Given the description of an element on the screen output the (x, y) to click on. 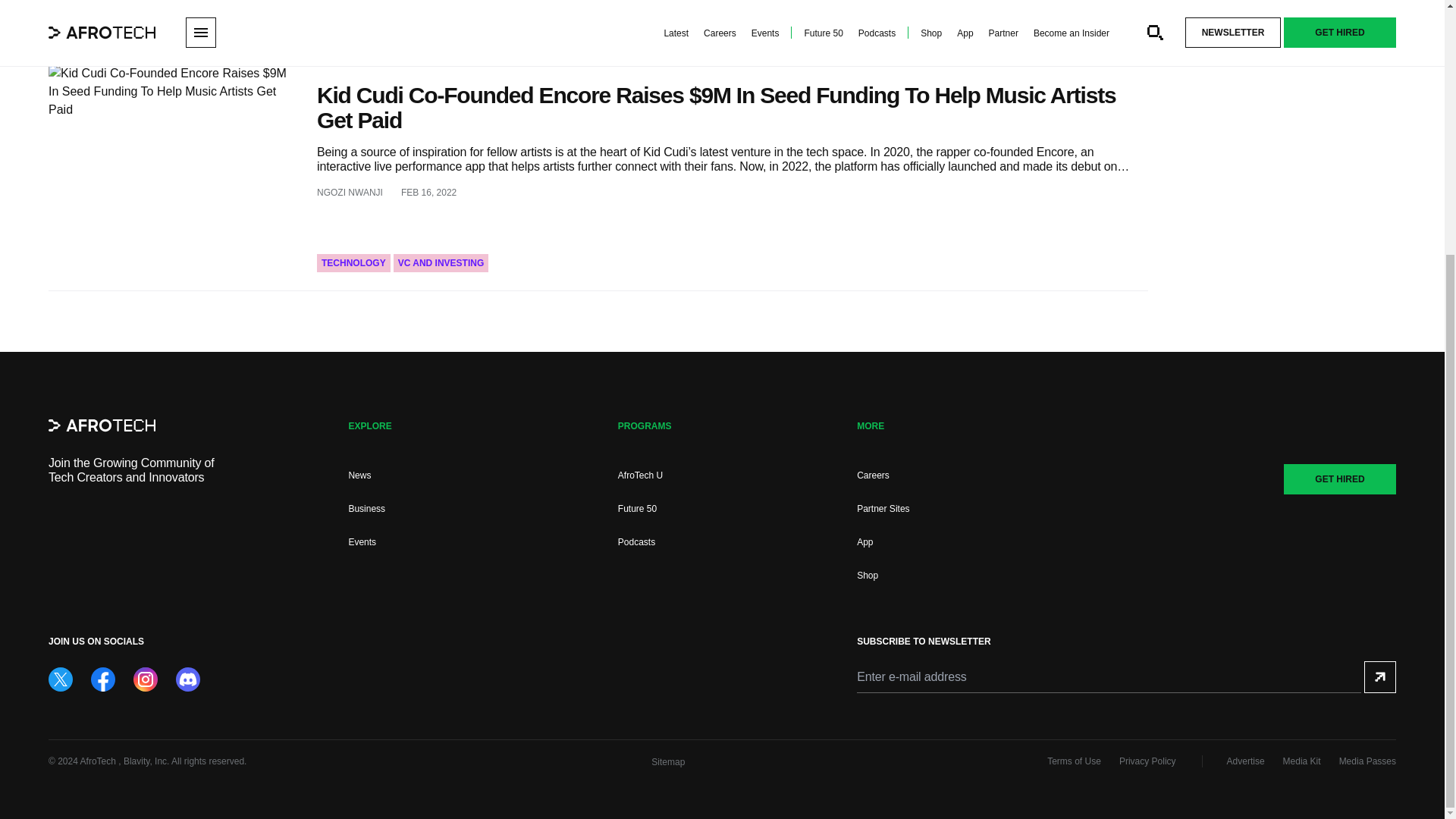
Partner Sites (882, 508)
AfroTech U (639, 475)
TECHNOLOGY (353, 262)
Careers (873, 475)
News (359, 475)
Podcasts (636, 542)
Shop (867, 575)
NGOZI NWANJI (349, 192)
Business (366, 508)
Events (361, 542)
Future 50 (636, 508)
App (864, 542)
VC AND INVESTING (441, 262)
